Given the description of an element on the screen output the (x, y) to click on. 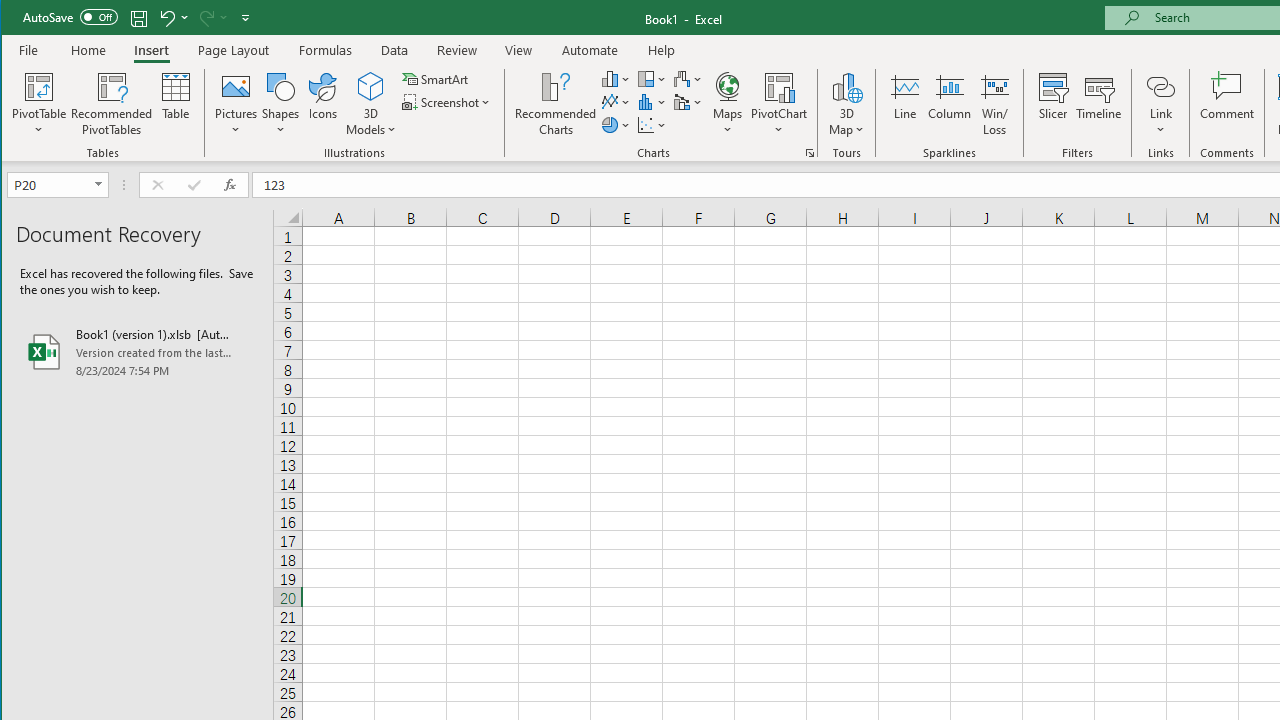
Insert Waterfall, Funnel, Stock, Surface, or Radar Chart (688, 78)
Screenshot (447, 101)
PivotChart (779, 86)
3D Map (846, 86)
Line (904, 104)
Recommended Charts (809, 152)
Comment (1227, 104)
PivotTable (39, 86)
